Given the description of an element on the screen output the (x, y) to click on. 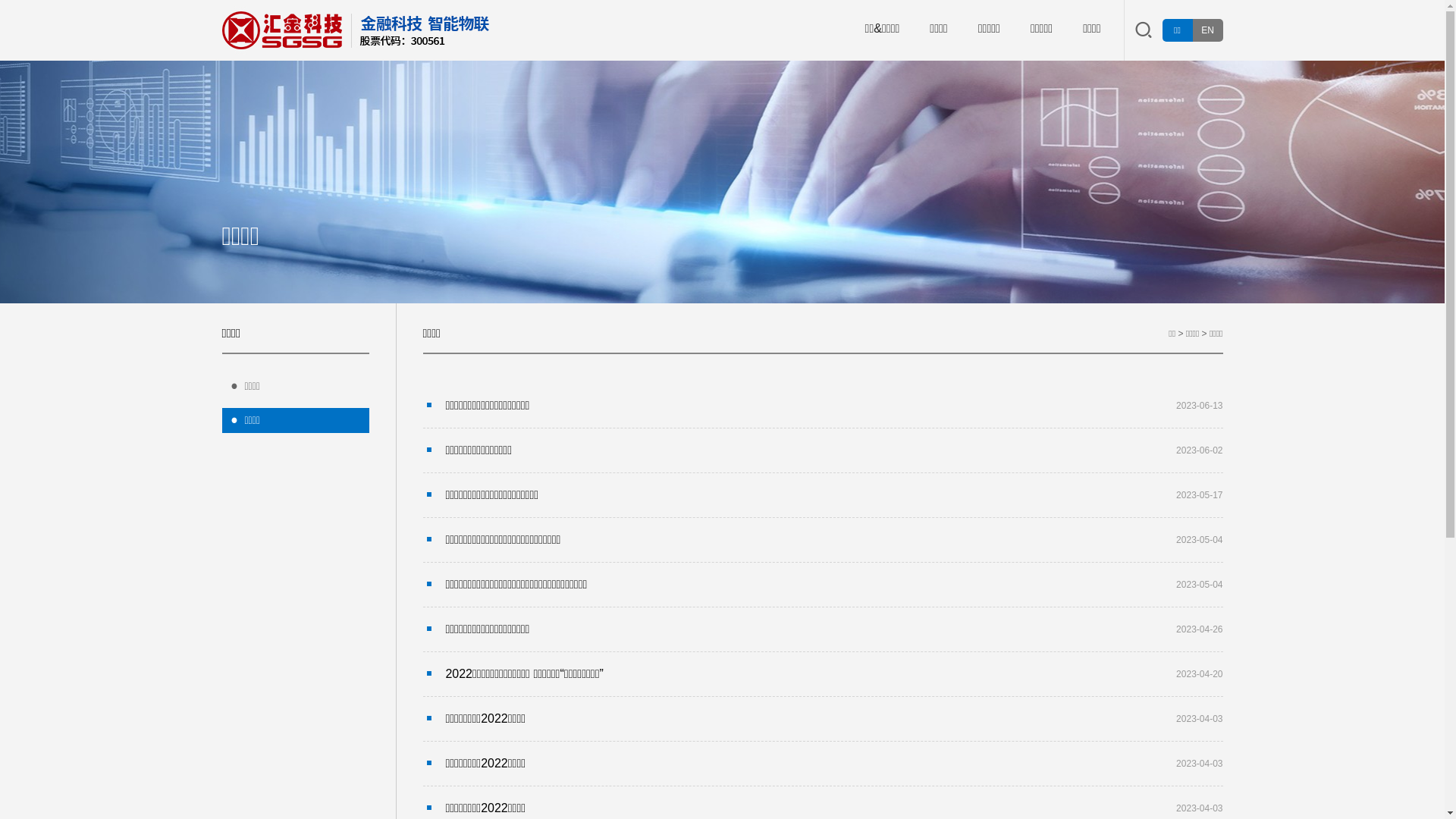
EN Element type: text (1207, 29)
